Given the description of an element on the screen output the (x, y) to click on. 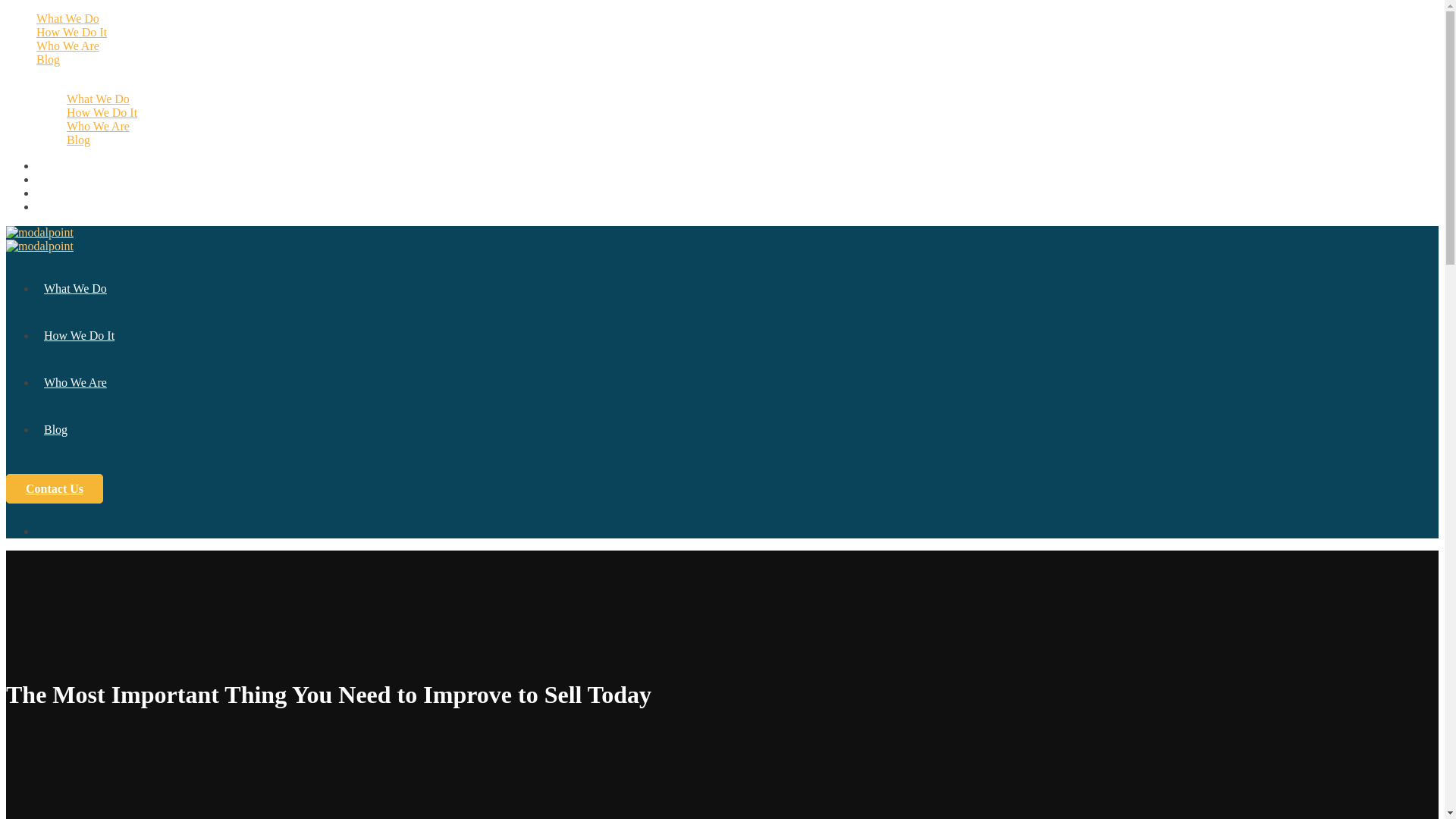
Blog (78, 139)
What We Do (67, 18)
Who We Are (67, 45)
What We Do (74, 287)
How We Do It (101, 112)
Who We Are (97, 125)
Blog (54, 429)
How We Do It (71, 31)
Blog (47, 59)
Who We Are (74, 382)
